Given the description of an element on the screen output the (x, y) to click on. 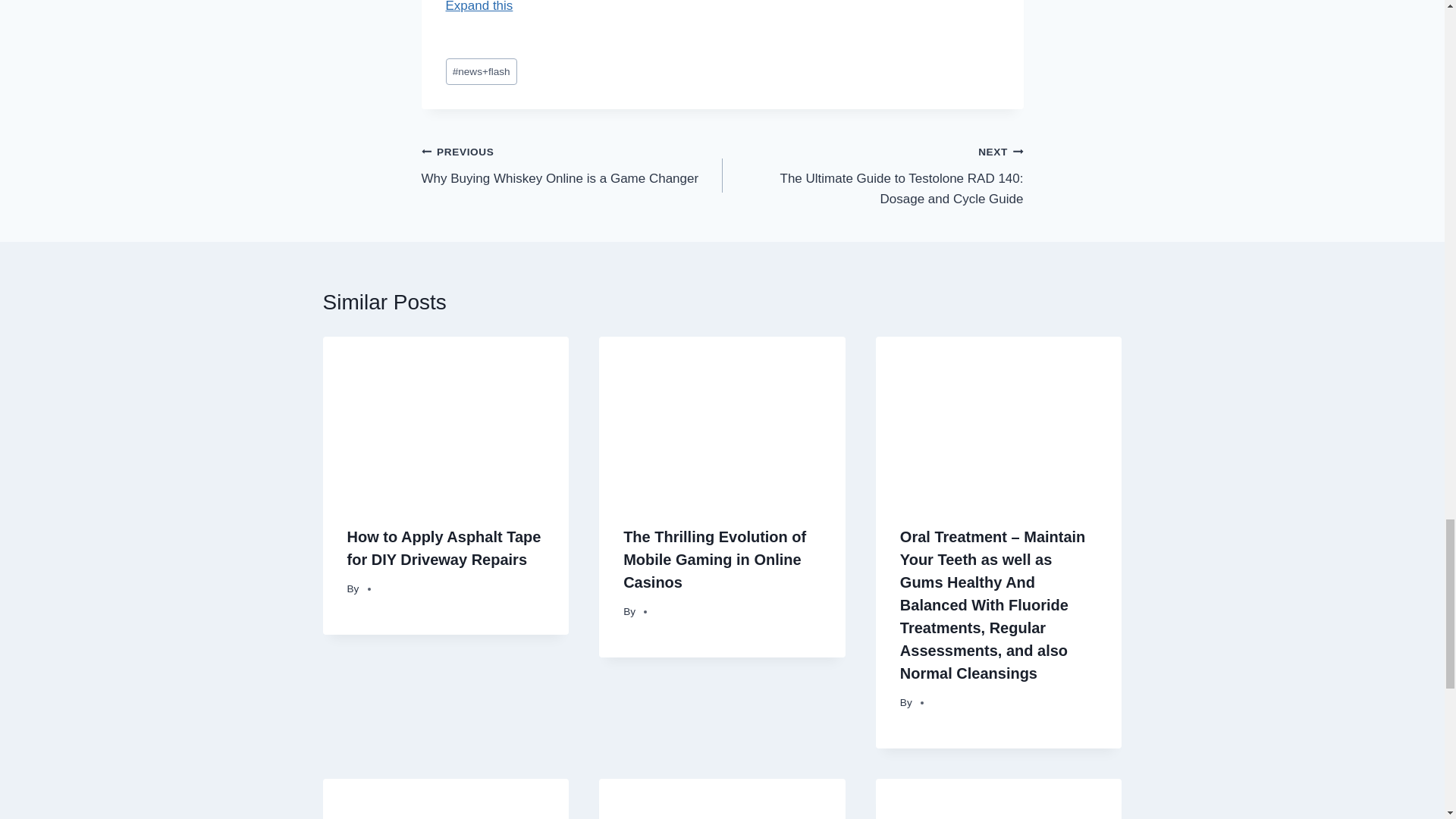
Expand this (479, 6)
How to Apply Asphalt Tape for DIY Driveway Repairs (572, 164)
The Thrilling Evolution of Mobile Gaming in Online Casinos (444, 548)
